Given the description of an element on the screen output the (x, y) to click on. 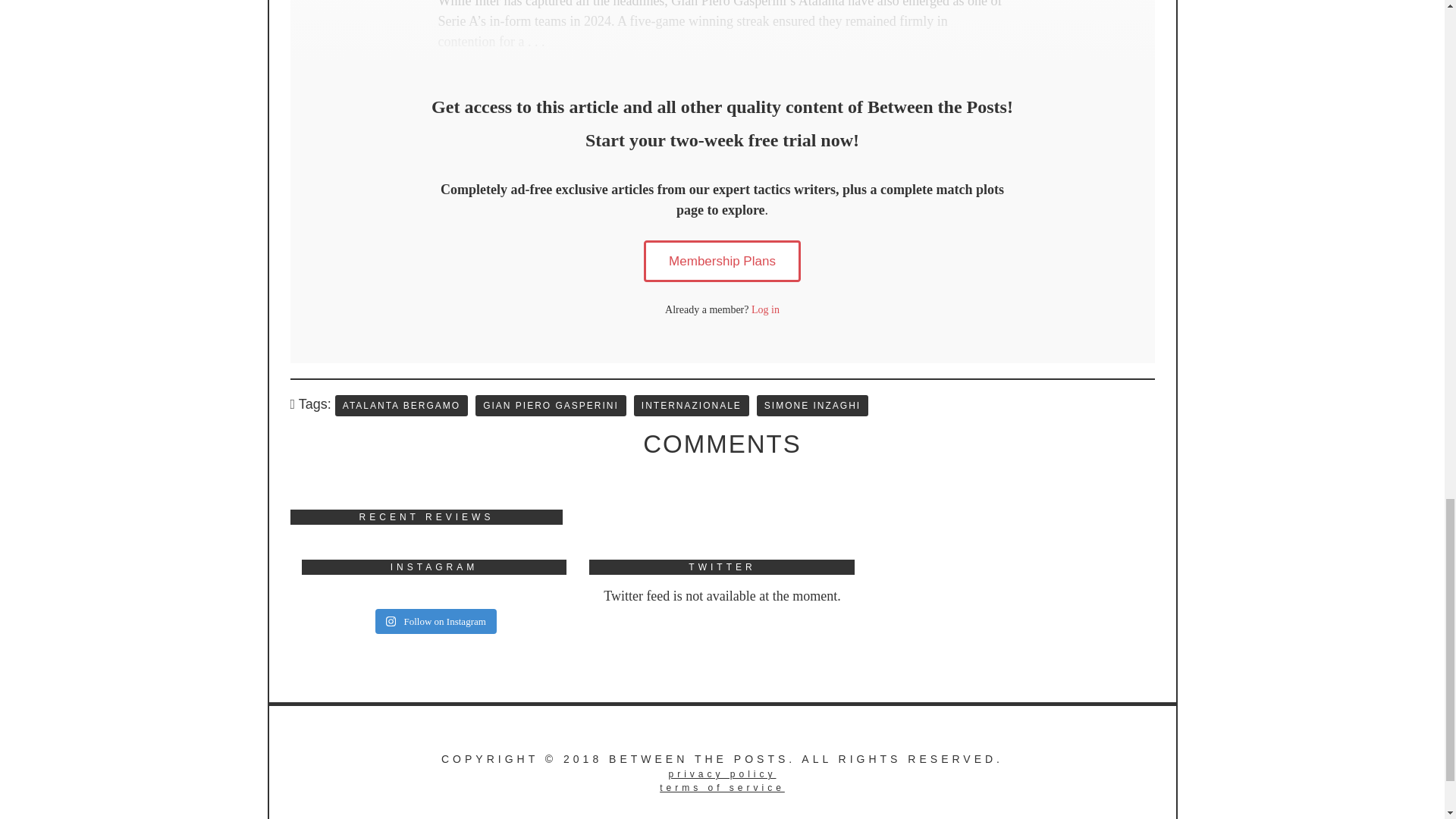
Membership Plans (721, 260)
